Given the description of an element on the screen output the (x, y) to click on. 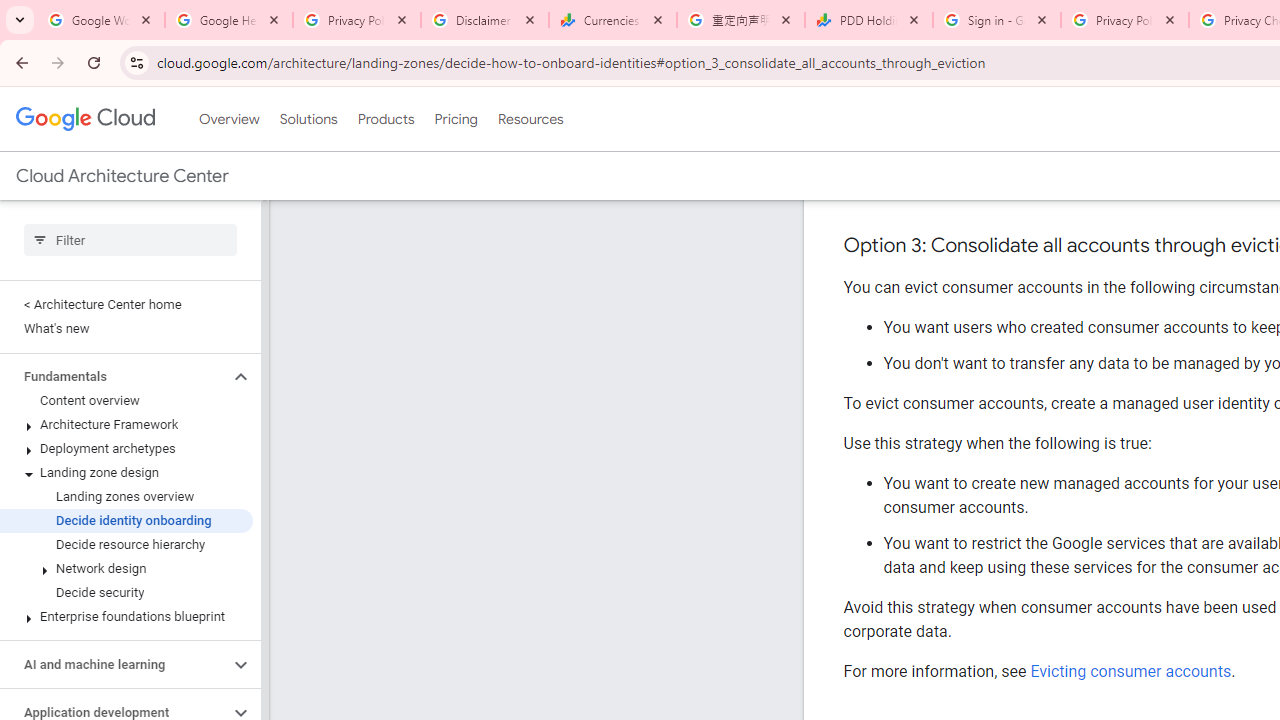
Google Cloud (84, 118)
Currencies - Google Finance (613, 20)
PDD Holdings Inc - ADR (PDD) Price & News - Google Finance (869, 20)
Decide security (126, 592)
Enterprise foundations blueprint (126, 616)
